Given the description of an element on the screen output the (x, y) to click on. 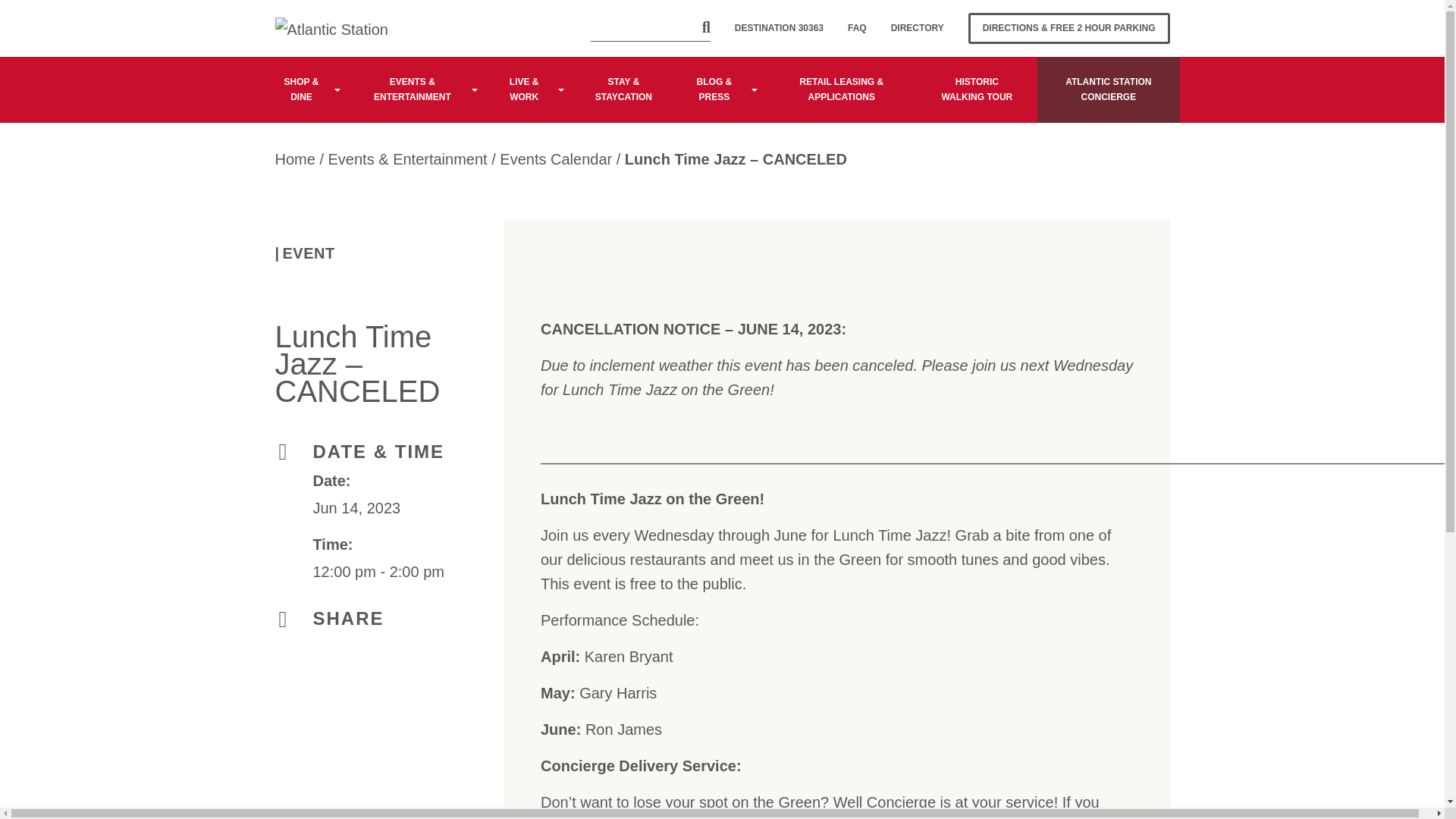
Destination 30363 (778, 28)
FAQ (857, 28)
Directory (917, 28)
HISTORIC WALKING TOUR (975, 89)
ATLANTIC STATION CONCIERGE (1107, 89)
FAQ (857, 28)
DIRECTORY (917, 28)
DESTINATION 30363 (778, 28)
